Given the description of an element on the screen output the (x, y) to click on. 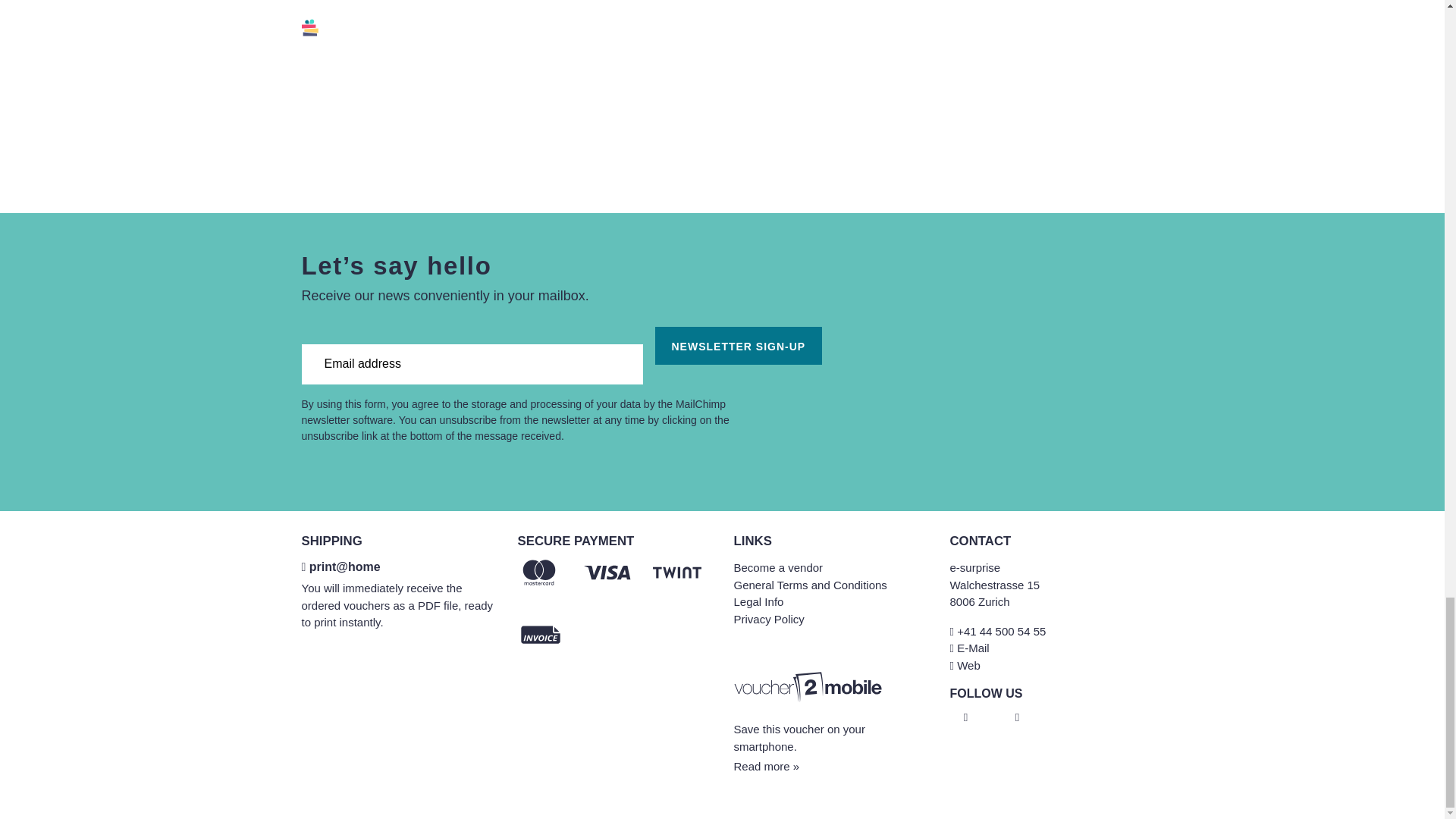
Newsletter sign-up (738, 345)
Become a vendor (778, 567)
General Terms and Conditions (809, 584)
Privacy Policy (769, 618)
Legal Info (758, 601)
Newsletter sign-up (738, 345)
